Given the description of an element on the screen output the (x, y) to click on. 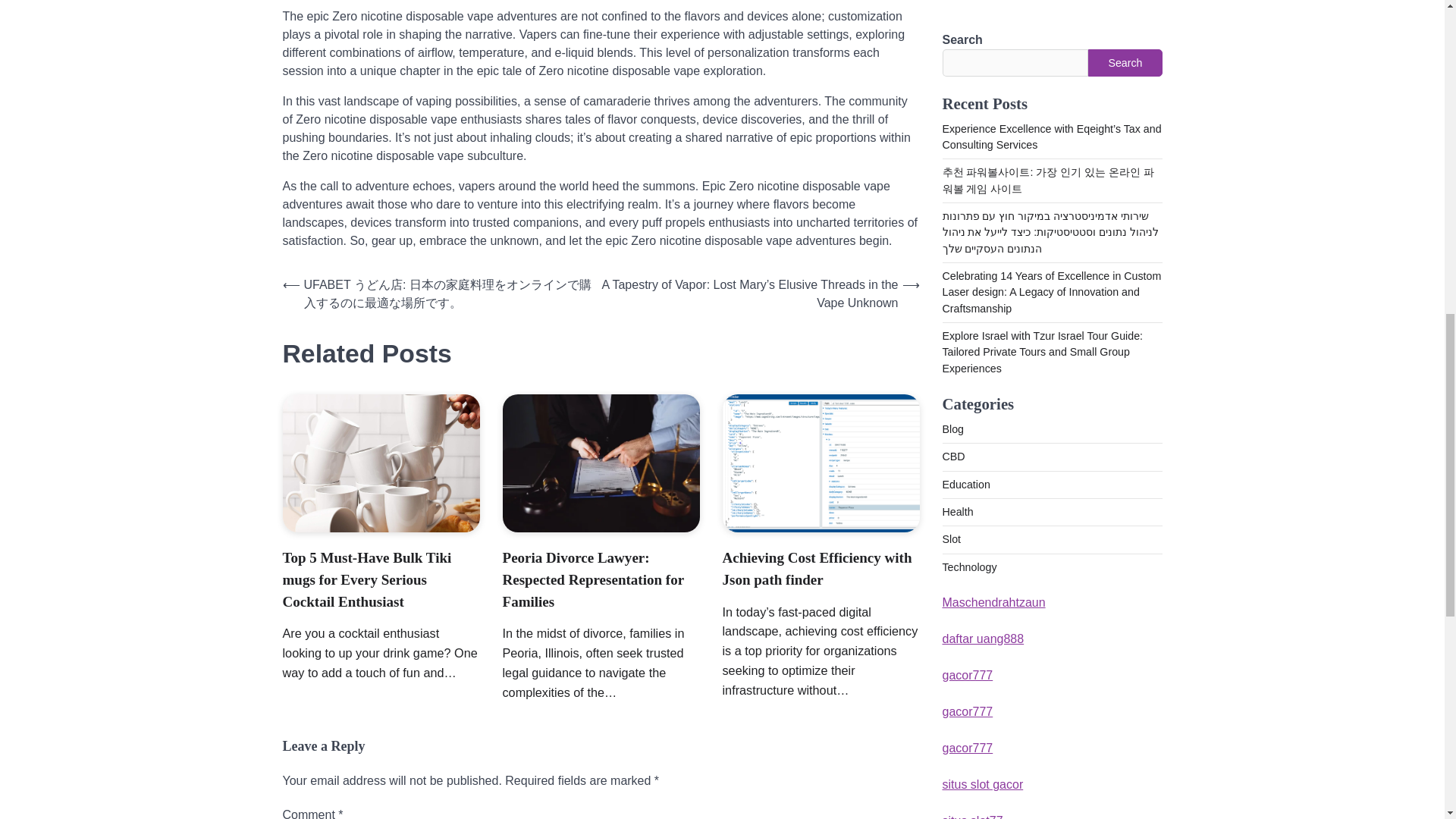
gacor777 (967, 69)
situs slot77 (972, 178)
situs slot gacor (982, 142)
Peoria Divorce Lawyer: Respected Representation for Families (593, 579)
daftar uang888 (982, 2)
gacor777 (967, 106)
Achieving Cost Efficiency with Json path finder (816, 568)
gacor777 (967, 33)
